Given the description of an element on the screen output the (x, y) to click on. 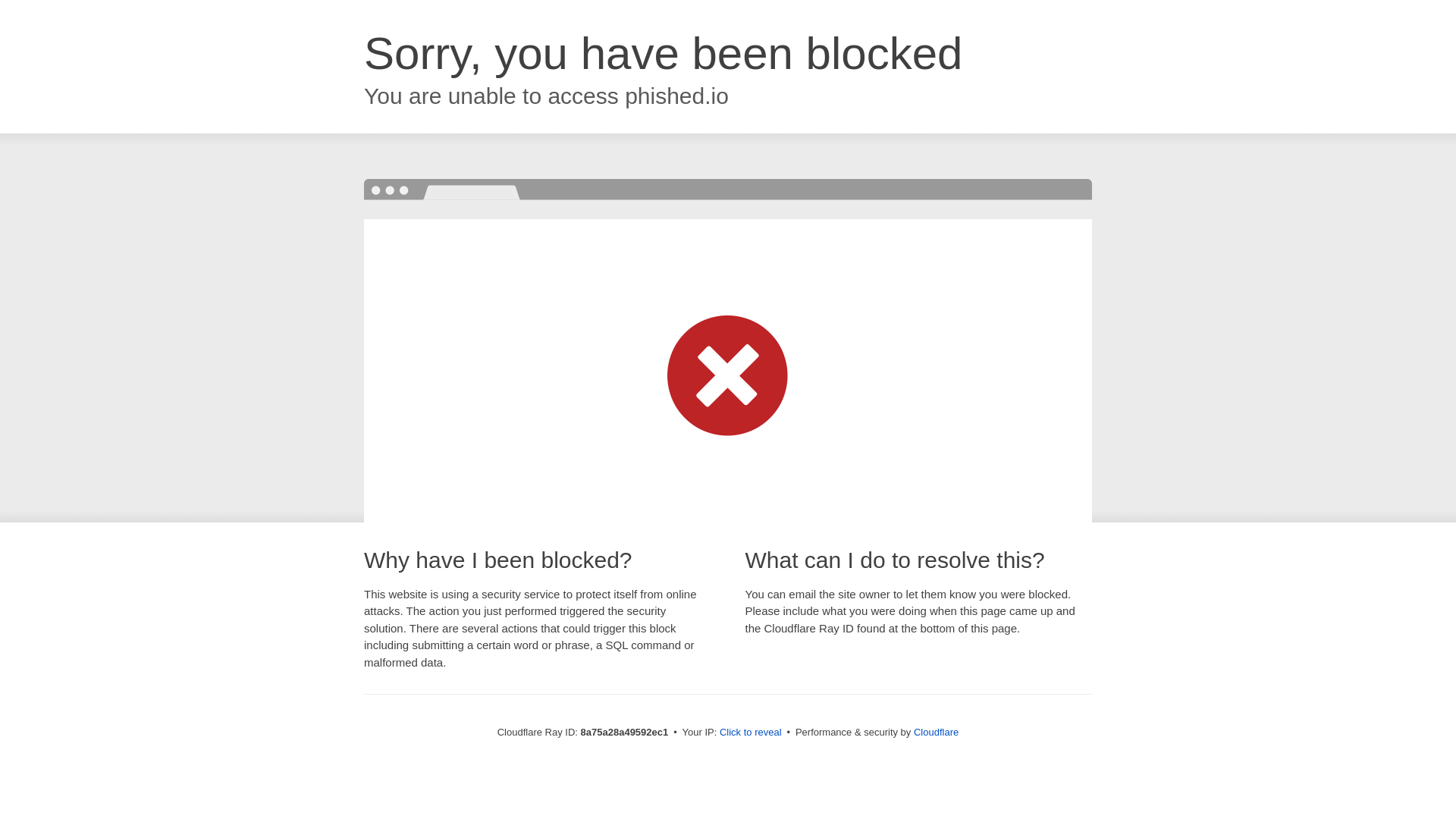
Click to reveal (750, 732)
Cloudflare (936, 731)
